Given the description of an element on the screen output the (x, y) to click on. 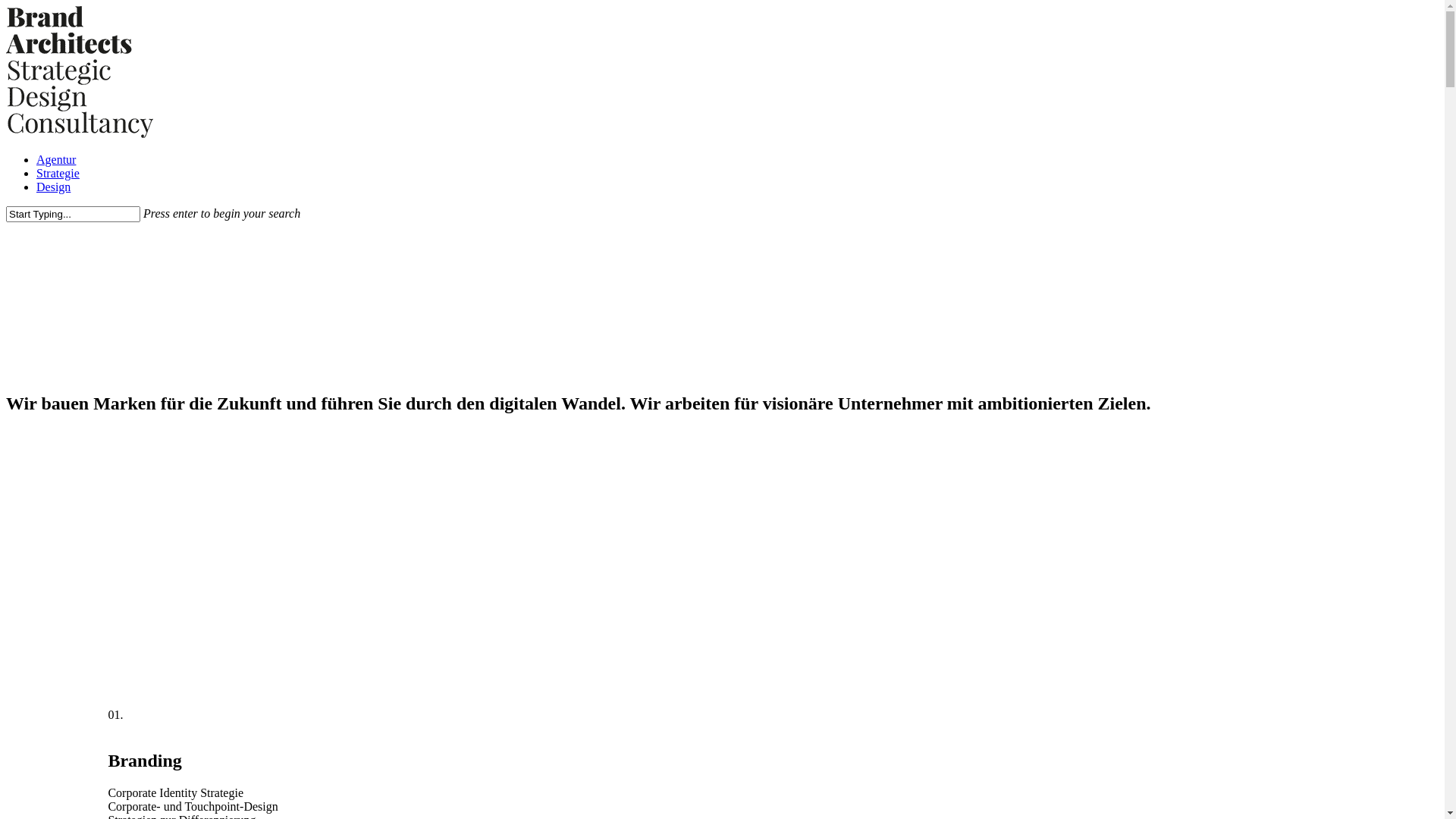
Agentur Element type: text (55, 159)
Design Element type: text (53, 186)
Strategie Element type: text (57, 172)
Skip to main content Element type: text (5, 5)
